Given the description of an element on the screen output the (x, y) to click on. 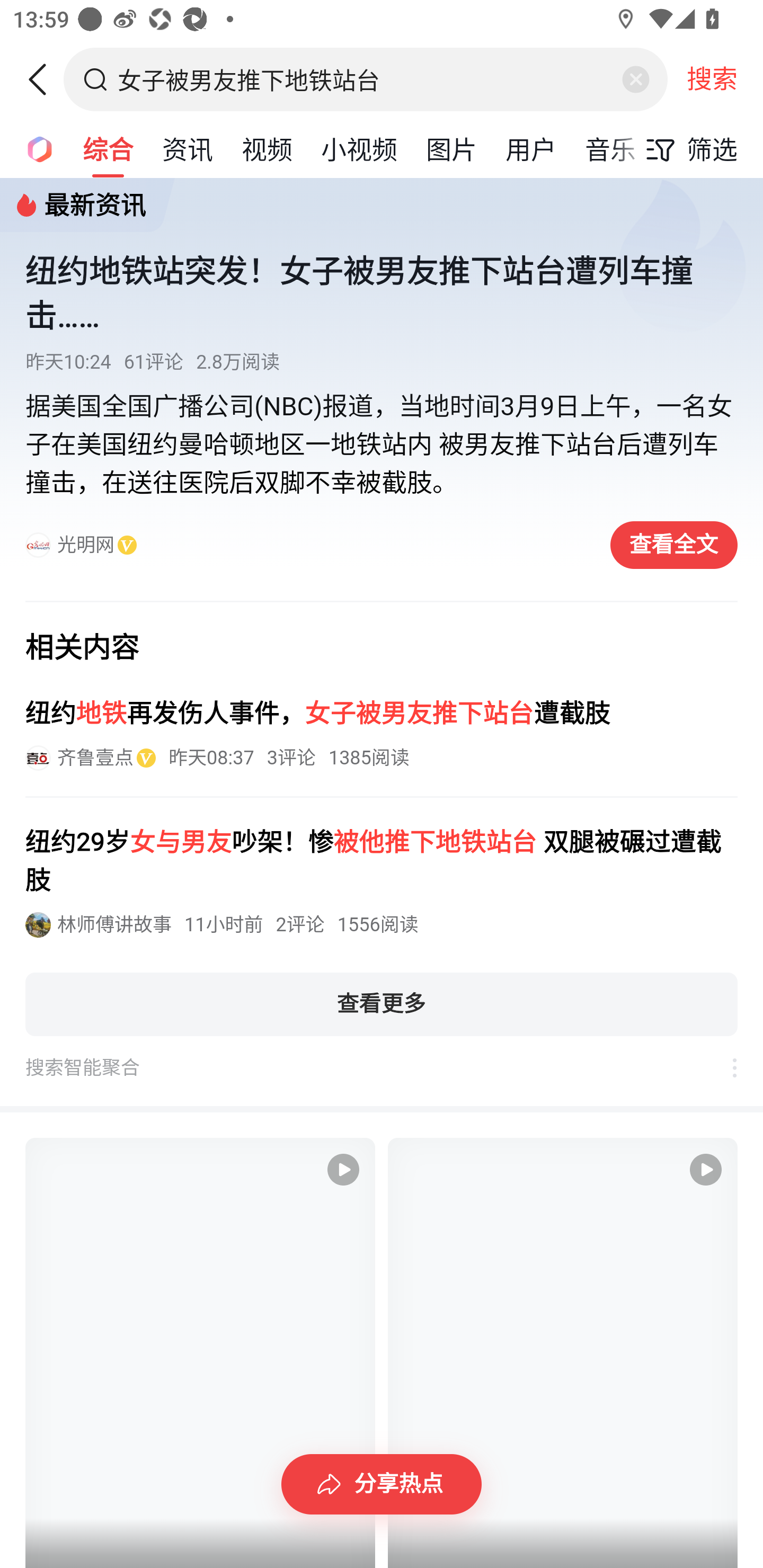
搜索框，女子被男友推下地铁站台 (366, 79)
搜索 (711, 79)
返回 (44, 79)
清除 (635, 79)
资讯 (187, 148)
视频 (266, 148)
小视频 (359, 148)
图片 (451, 148)
用户 (530, 148)
音乐 (610, 148)
筛选 (686, 149)
AI问答 (34, 148)
